Given the description of an element on the screen output the (x, y) to click on. 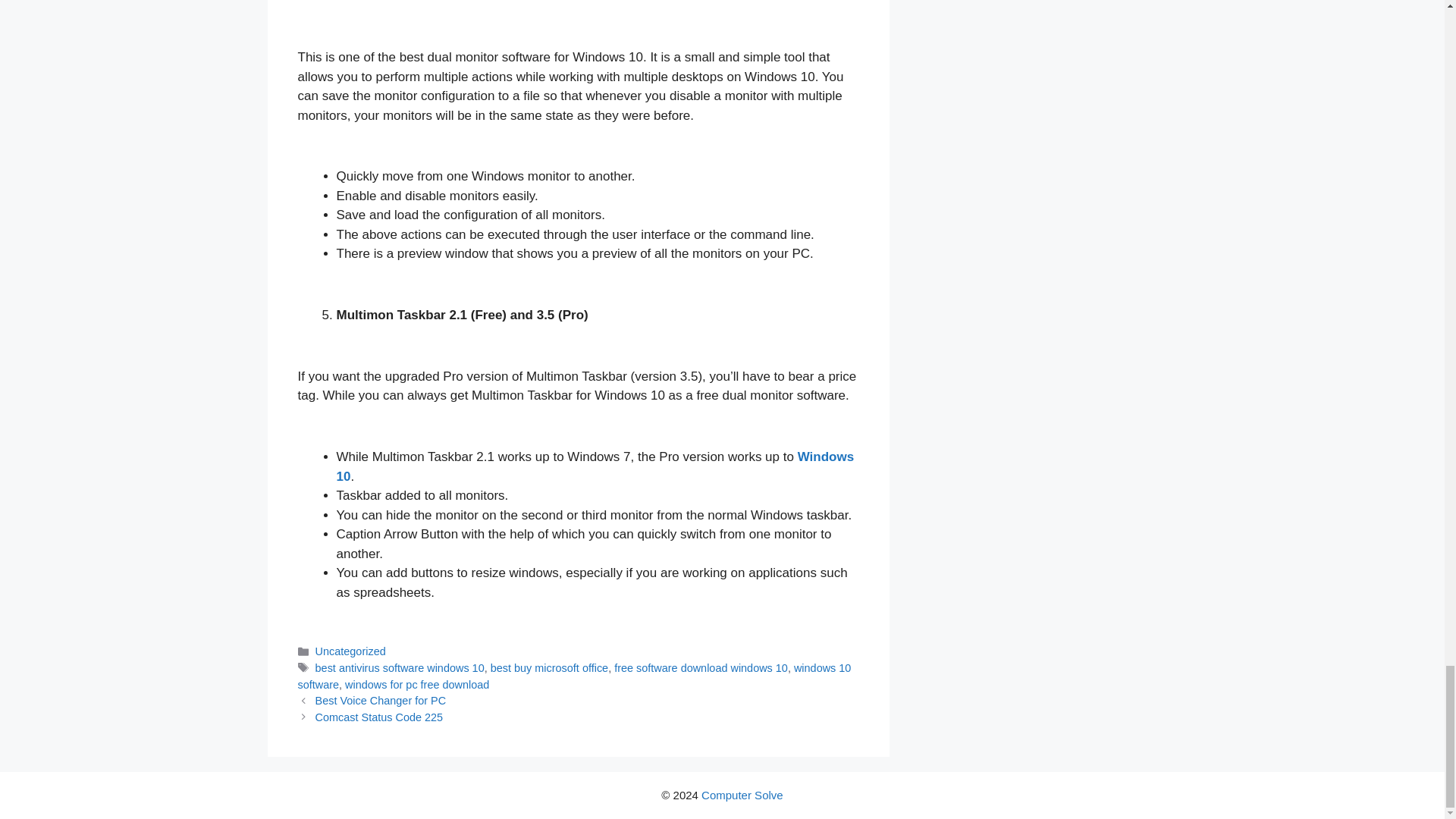
Windows 10 (595, 466)
free software download windows 10 (700, 667)
best buy microsoft office (549, 667)
windows 10 software (573, 676)
best antivirus software windows 10 (399, 667)
Uncategorized (350, 651)
